Given the description of an element on the screen output the (x, y) to click on. 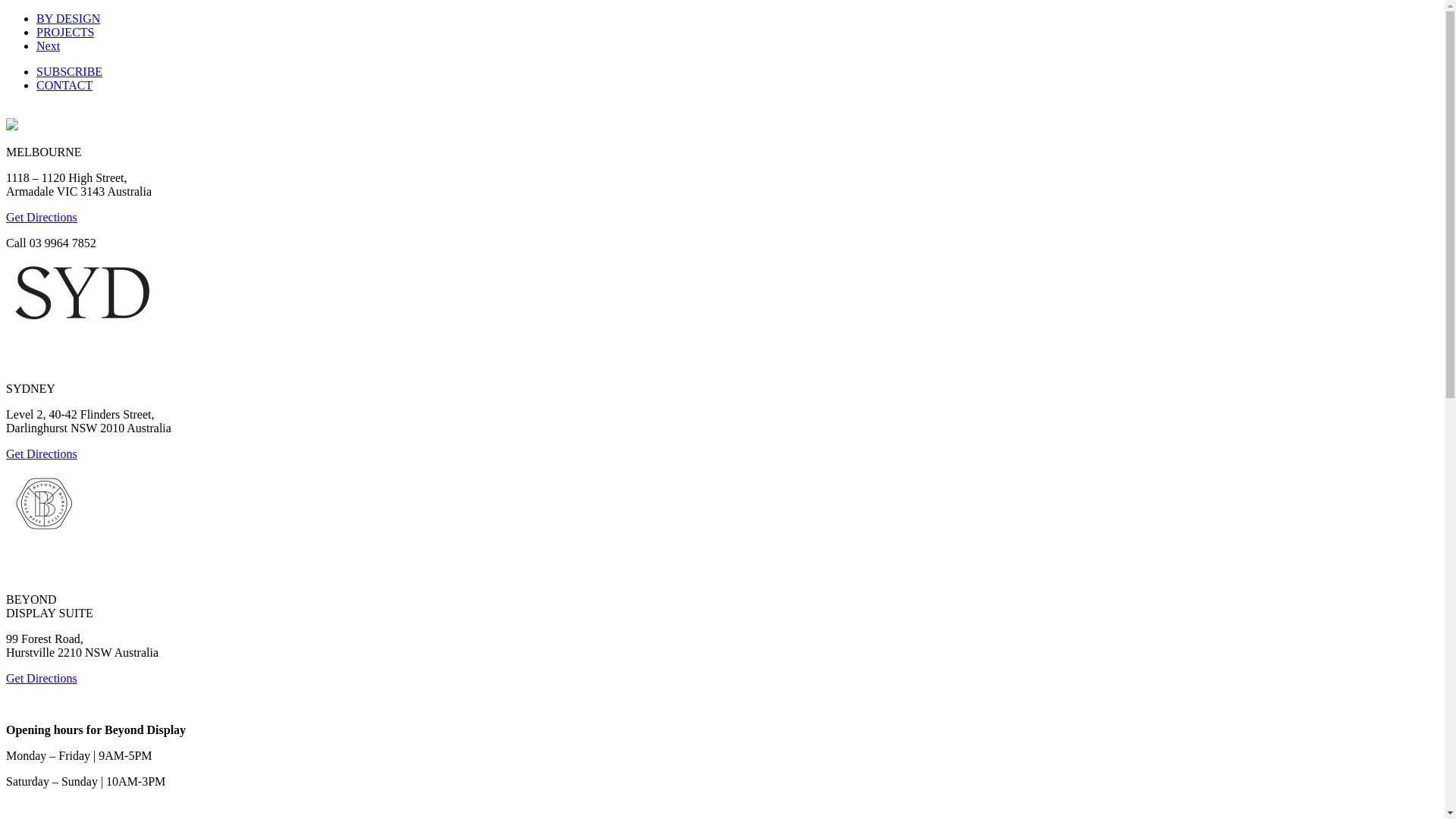
BY DESIGN Element type: text (68, 18)
Get Directions Element type: text (41, 453)
Get Directions Element type: text (41, 677)
Get Directions Element type: text (41, 216)
Next Element type: text (47, 45)
SUBSCRIBE Element type: text (69, 71)
PROJECTS Element type: text (65, 31)
CONTACT Element type: text (64, 84)
